Given the description of an element on the screen output the (x, y) to click on. 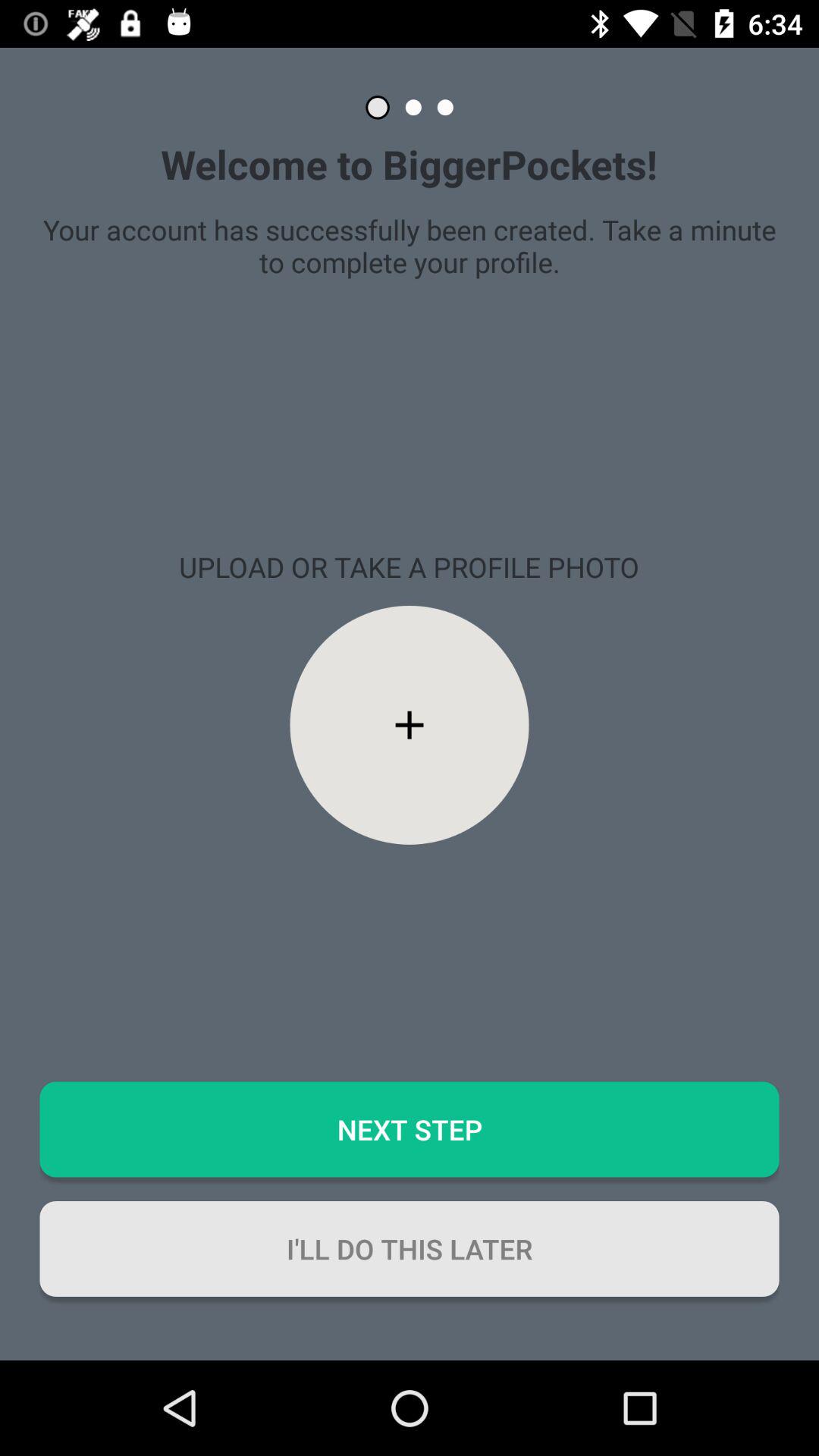
click the item above i ll do icon (409, 1129)
